Given the description of an element on the screen output the (x, y) to click on. 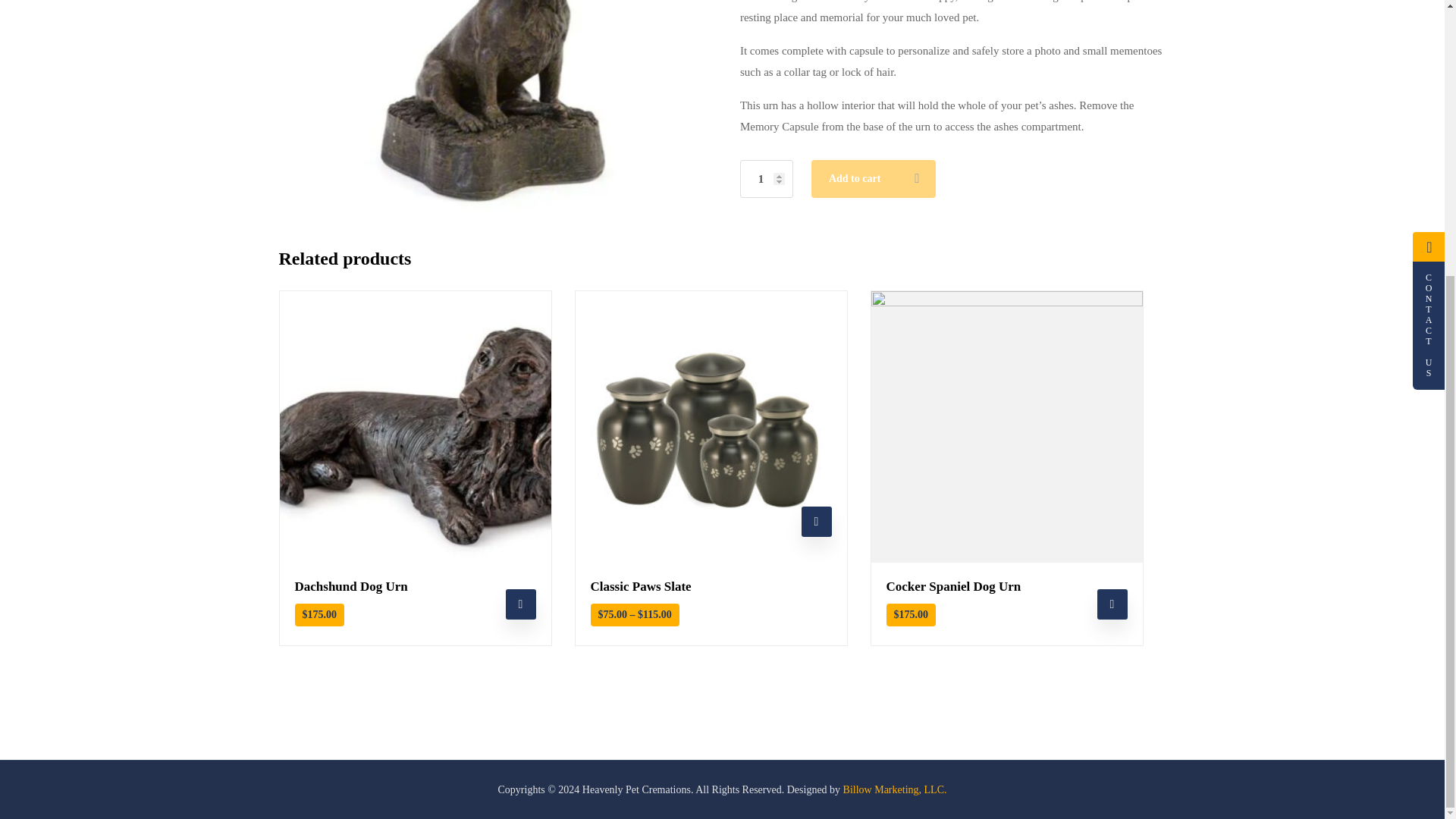
Classic Paws Slate (710, 597)
French Bulldog URN (491, 112)
Qty (766, 178)
Cocker Spaniel Dog Urn (1005, 597)
Add to cart (520, 603)
1 (766, 178)
Add to cart (871, 178)
Add to cart (1111, 603)
Dachshund Dog Urn (414, 597)
Select options (815, 521)
